Given the description of an element on the screen output the (x, y) to click on. 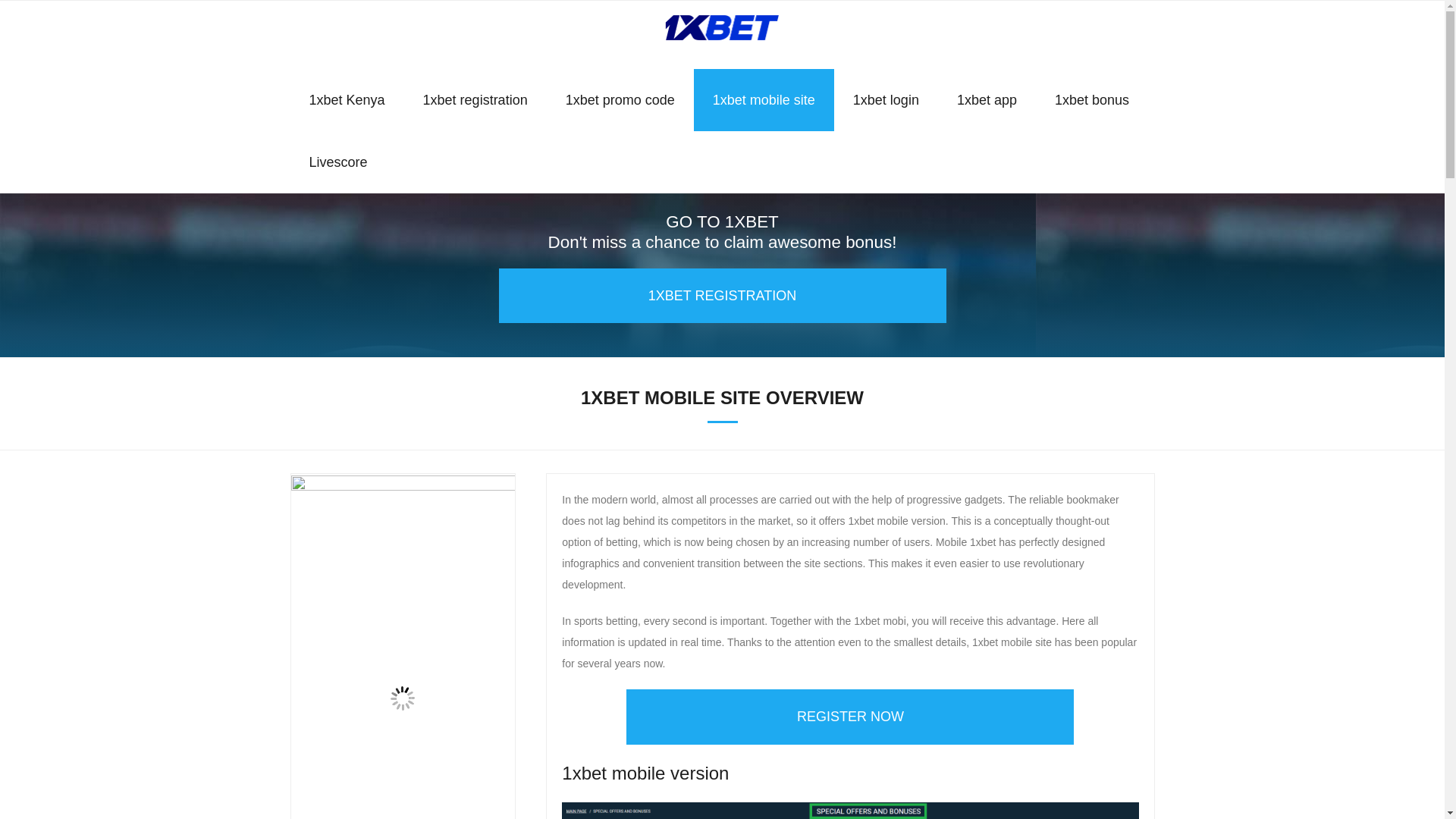
1xbet login (885, 99)
1xbet mobile site (764, 99)
Livescore (337, 162)
1xbet app (986, 99)
1xbet Kenya (346, 99)
1xbet mobile version (850, 810)
1XBET REGISTRATION (722, 295)
1xbet registration (475, 99)
1xbet bonus (1091, 99)
REGISTER NOW (850, 716)
1xbet promo code (620, 99)
